Given the description of an element on the screen output the (x, y) to click on. 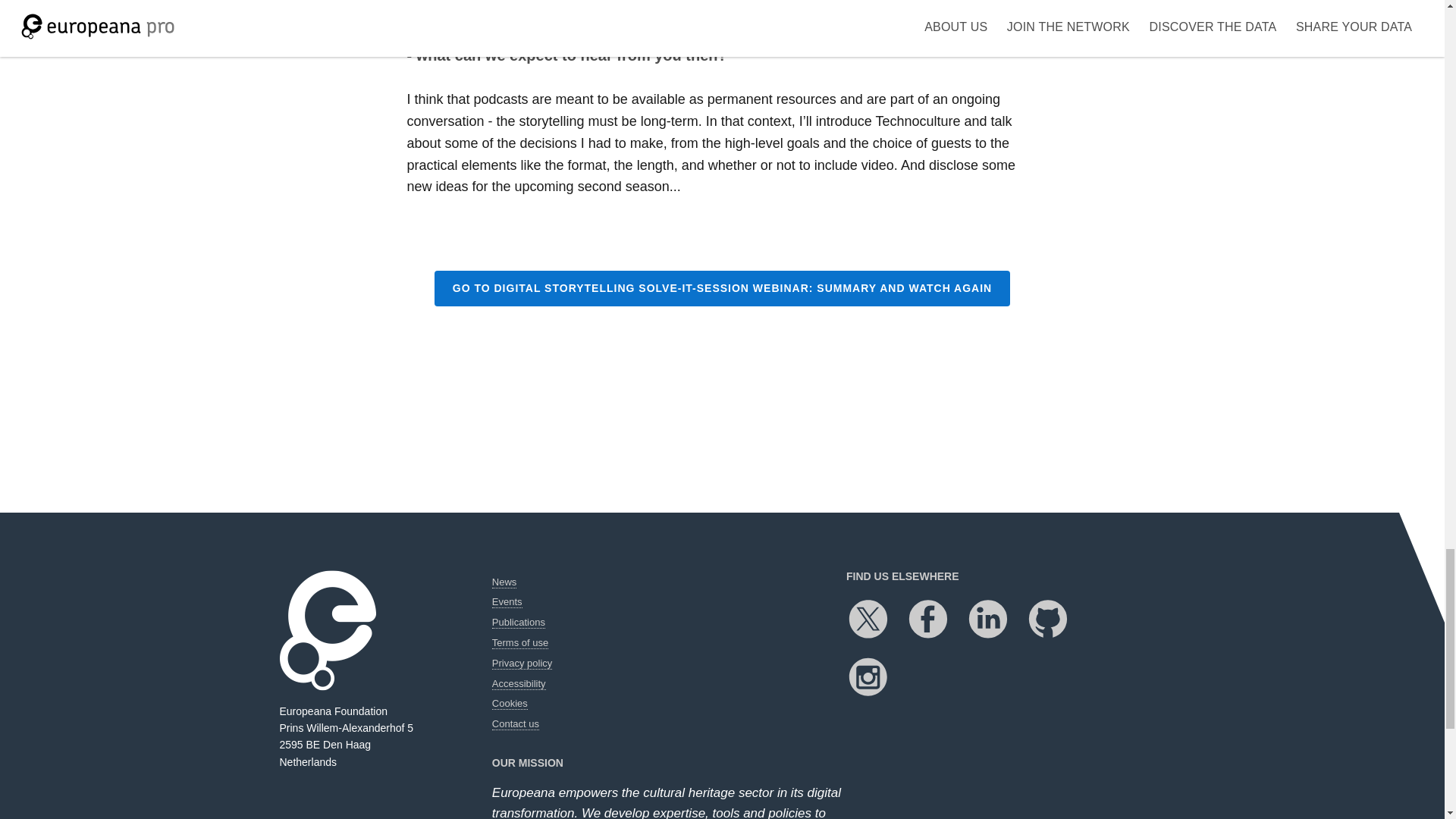
Events (507, 602)
Cookies (509, 703)
Privacy policy (521, 663)
Events (507, 602)
Accessibility (519, 684)
Contact us (515, 724)
News (504, 582)
Publications (518, 622)
Terms of use (520, 643)
